Given the description of an element on the screen output the (x, y) to click on. 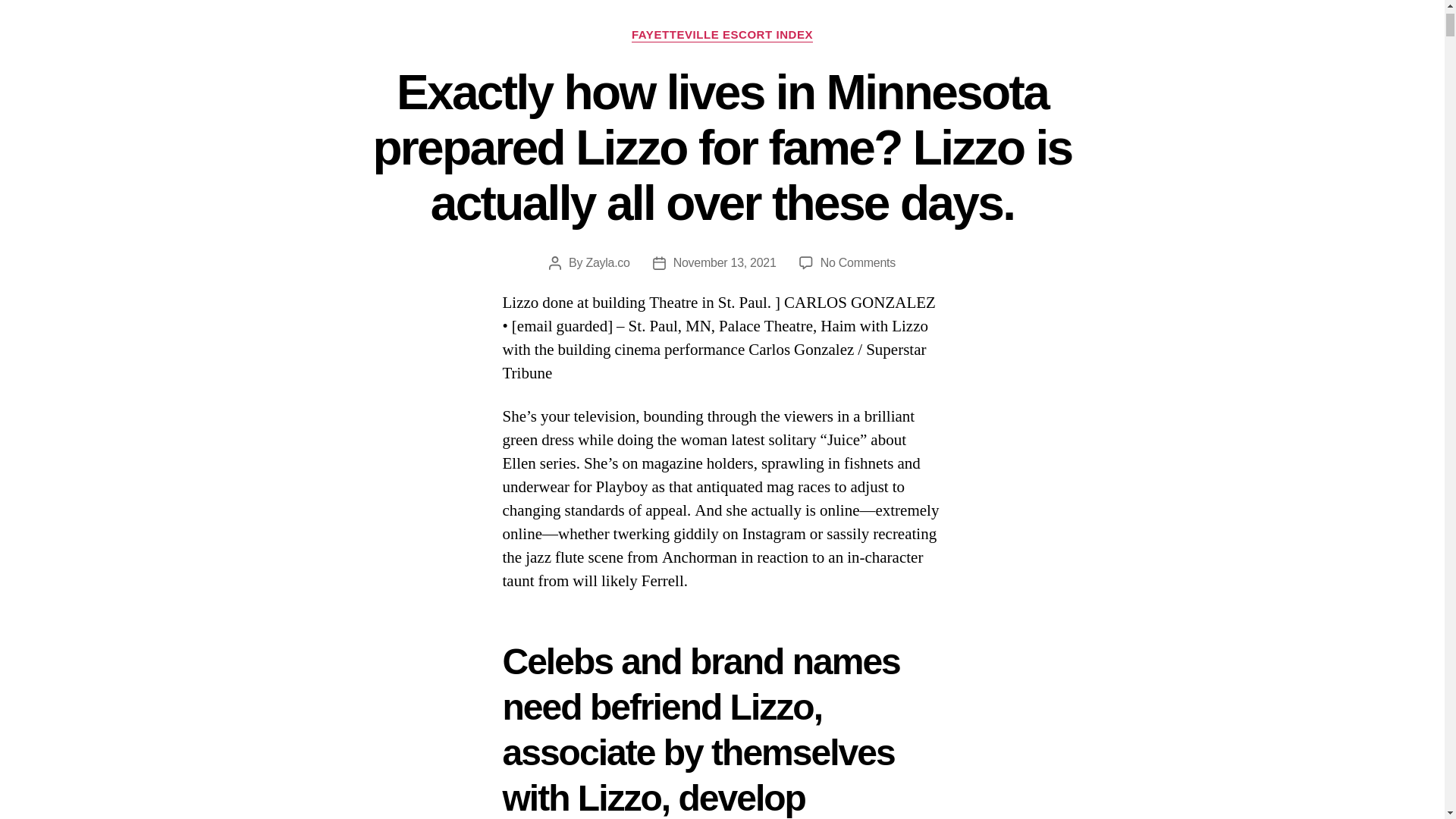
November 13, 2021 (724, 262)
FAYETTEVILLE ESCORT INDEX (721, 34)
Zayla.co (606, 262)
